Given the description of an element on the screen output the (x, y) to click on. 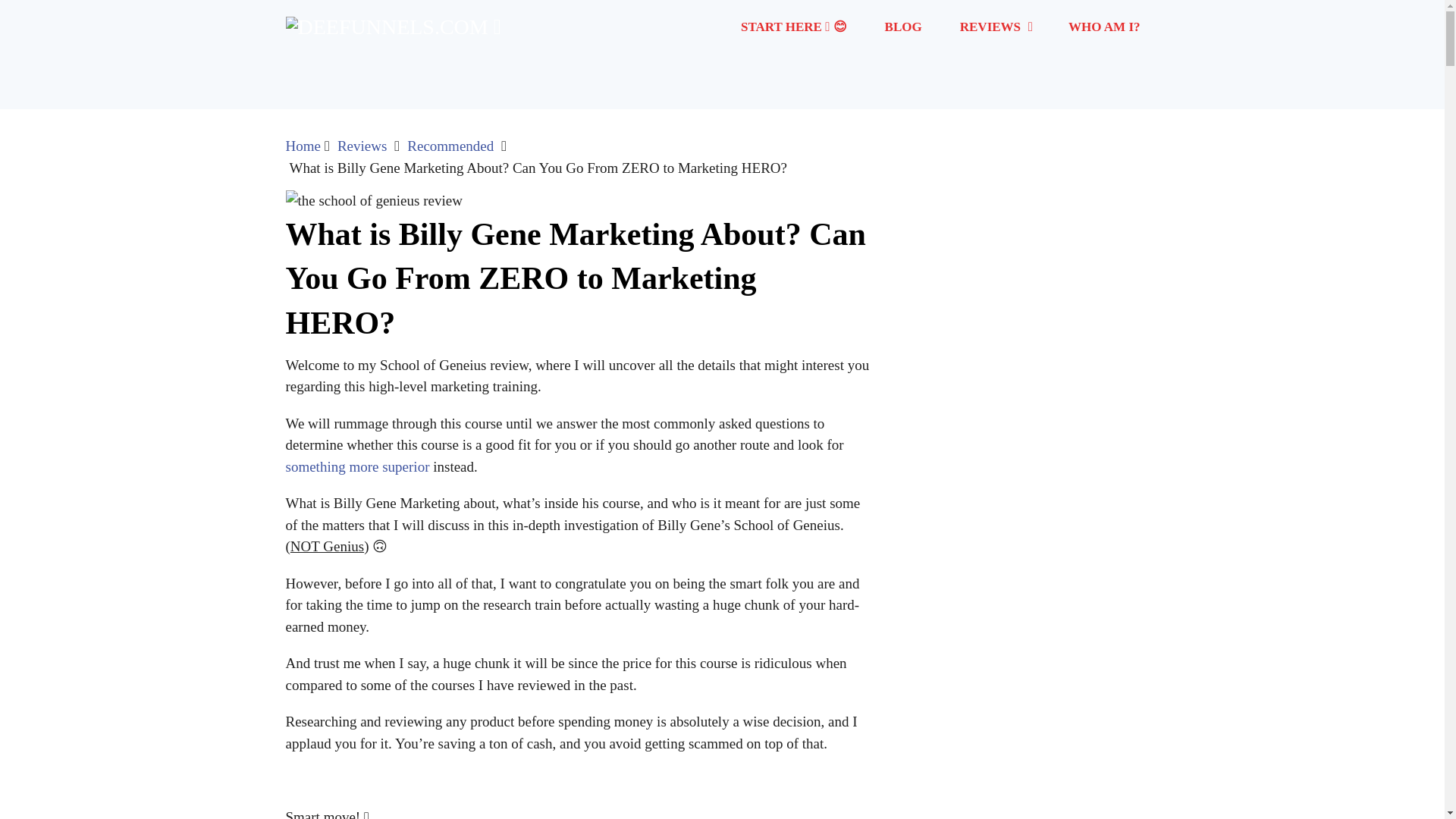
Recommended (450, 145)
Home (302, 145)
Reviews (362, 145)
something more superior (357, 466)
WHO AM I? (1103, 27)
REVIEWS (994, 27)
BLOG (903, 27)
